Given the description of an element on the screen output the (x, y) to click on. 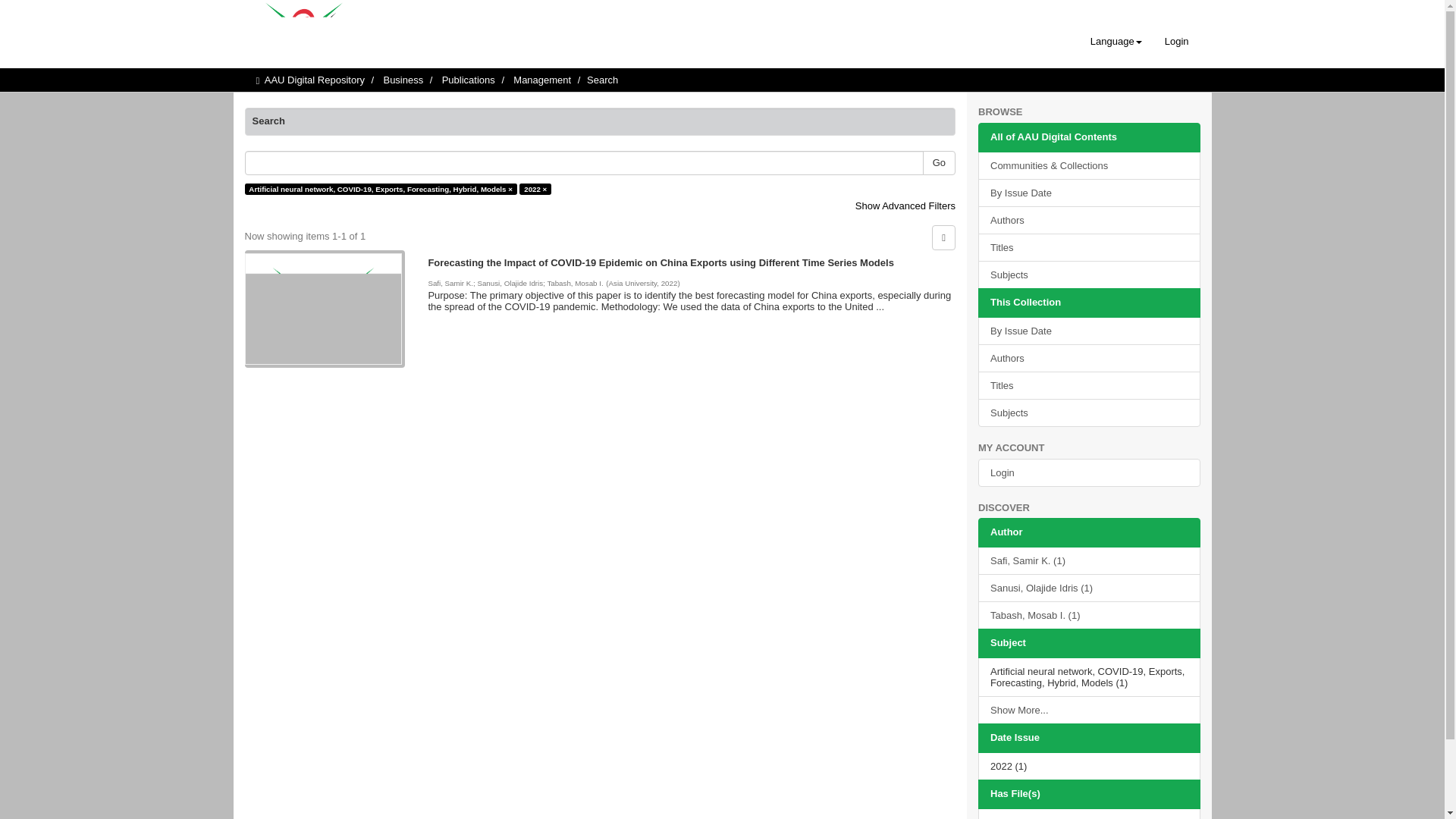
Go (939, 163)
Publications (468, 79)
Show Advanced Filters (905, 205)
Login (1176, 41)
Business (402, 79)
Management (541, 79)
Language (1115, 41)
AAU Digital Repository (314, 79)
